Given the description of an element on the screen output the (x, y) to click on. 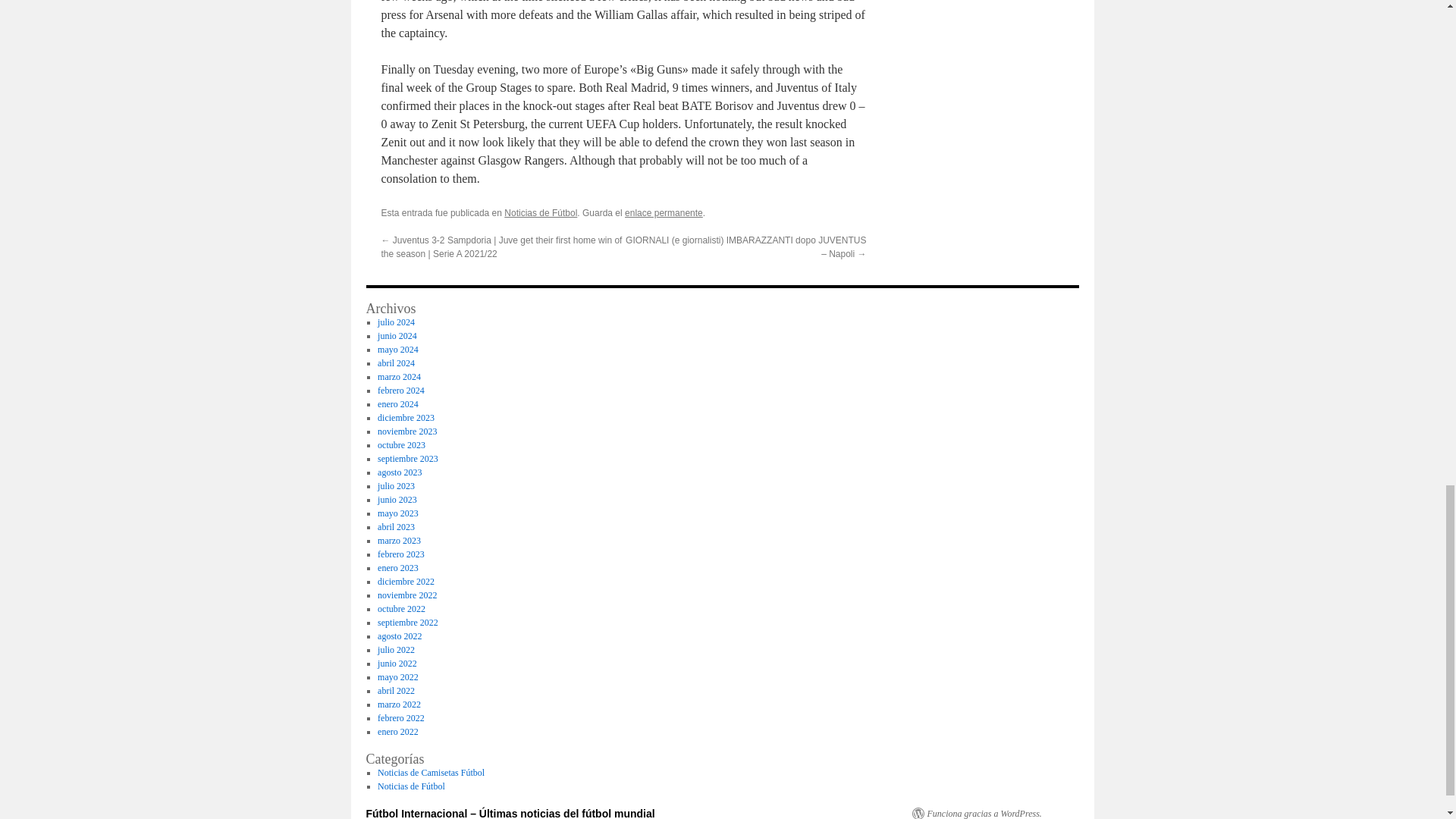
marzo 2024 (398, 376)
septiembre 2023 (407, 458)
enero 2024 (398, 403)
octubre 2023 (401, 444)
abril 2024 (395, 362)
julio 2024 (395, 321)
mayo 2024 (398, 348)
julio 2023 (395, 485)
febrero 2024 (401, 389)
noviembre 2023 (406, 430)
agosto 2023 (399, 471)
diciembre 2023 (405, 417)
enlace permanente (663, 213)
junio 2024 (396, 335)
